Given the description of an element on the screen output the (x, y) to click on. 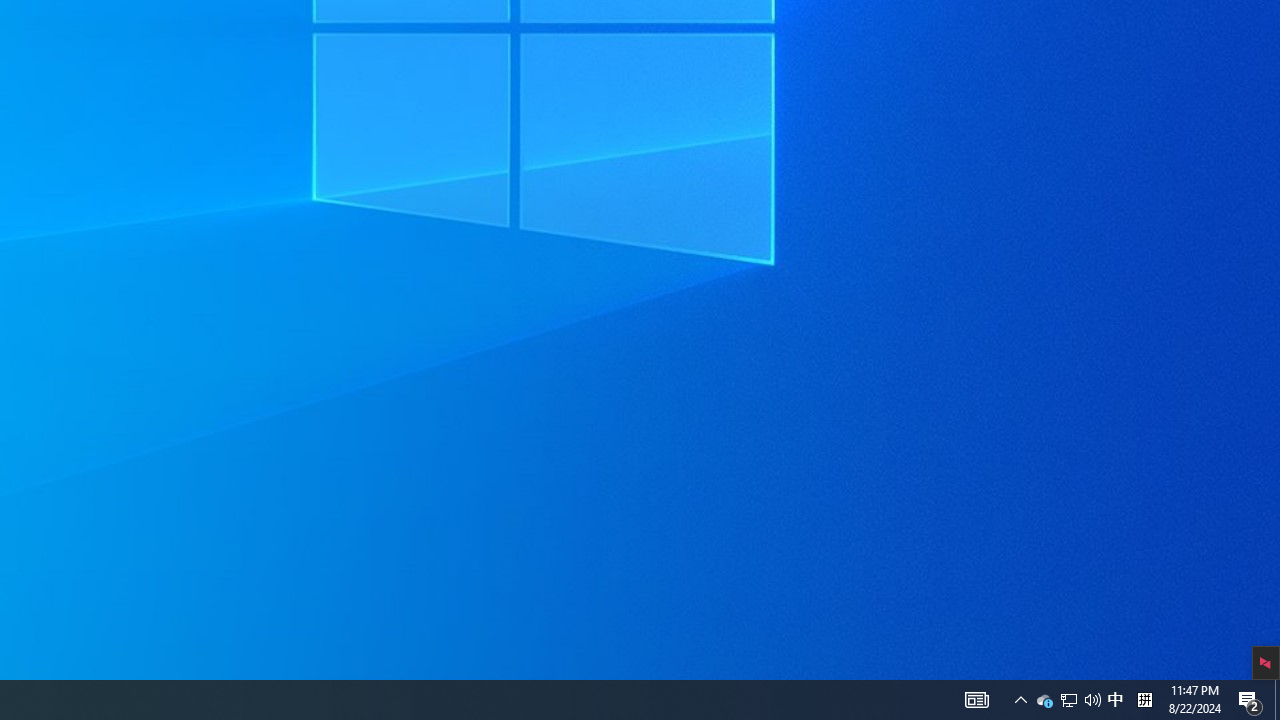
Action Center, 2 new notifications (1250, 699)
